Given the description of an element on the screen output the (x, y) to click on. 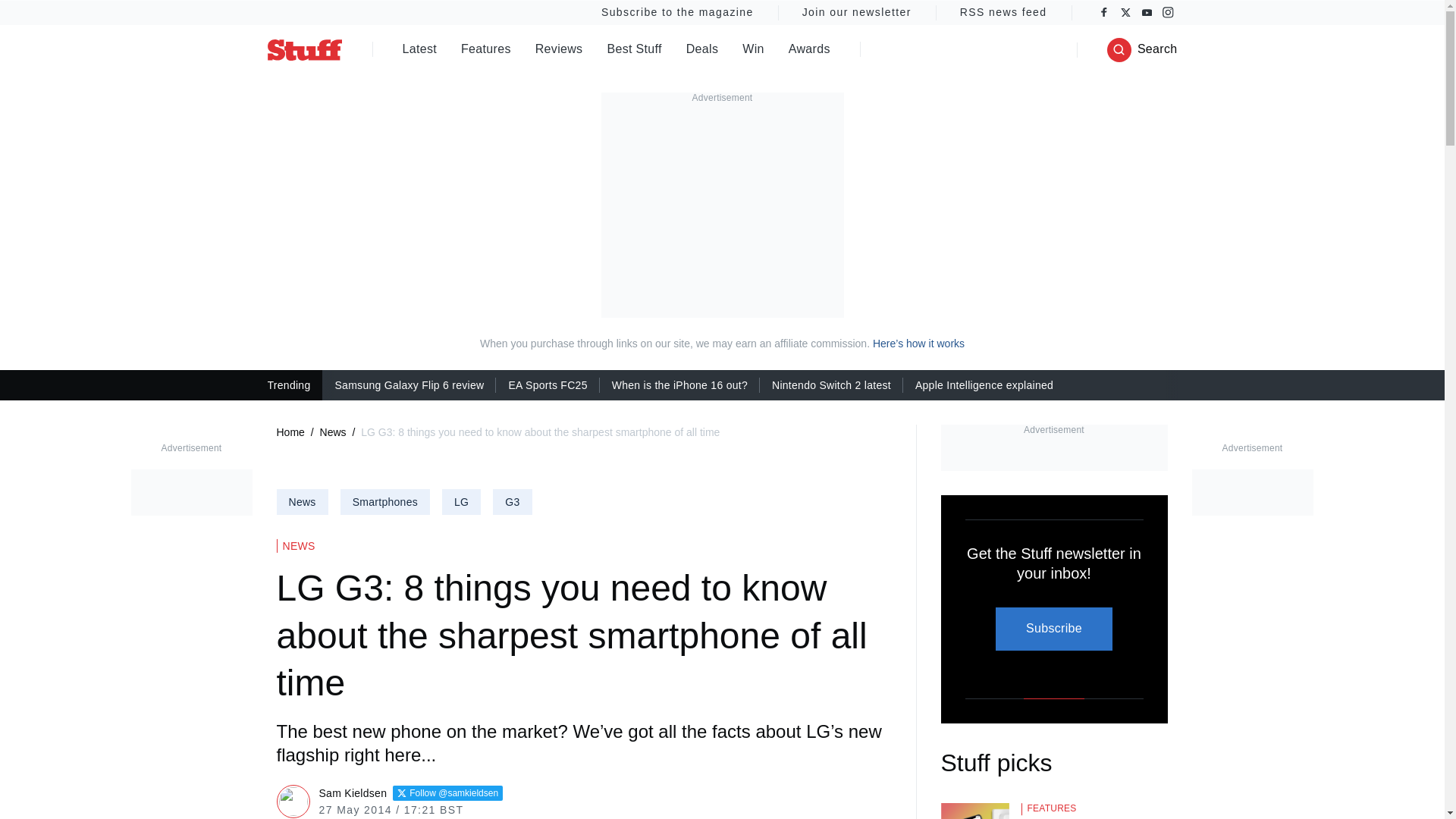
Facebook (1103, 12)
Latest (418, 50)
Features (486, 50)
When is the iPhone 16 out? (679, 384)
Deals (702, 50)
YouTube (1146, 12)
Nintendo Switch 2 latest (831, 384)
Samsung Galaxy Flip 6 review (408, 384)
Awards (809, 50)
RSS news feed (1003, 11)
EA Sports FC25 (547, 384)
Stuff (303, 49)
Subscribe to the magazine (676, 11)
Join our newsletter (856, 11)
Search (1141, 49)
